Given the description of an element on the screen output the (x, y) to click on. 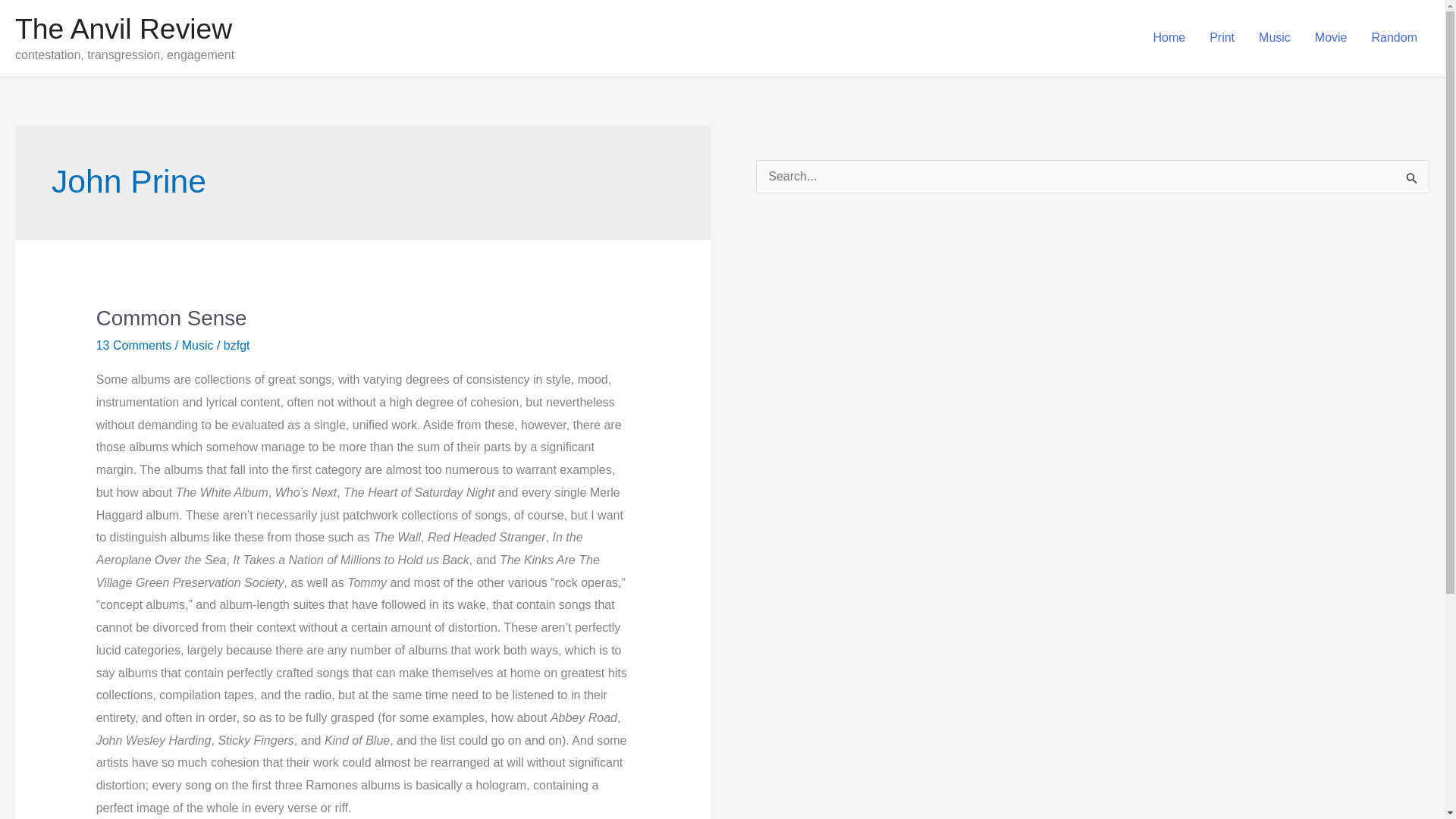
13 Comments (133, 345)
View all posts by bzfgt (237, 345)
The Anvil Review (122, 29)
Movie (1331, 37)
Random (1394, 37)
bzfgt (237, 345)
Common Sense (171, 318)
Home (1168, 37)
Music (198, 345)
Print (1221, 37)
